Given the description of an element on the screen output the (x, y) to click on. 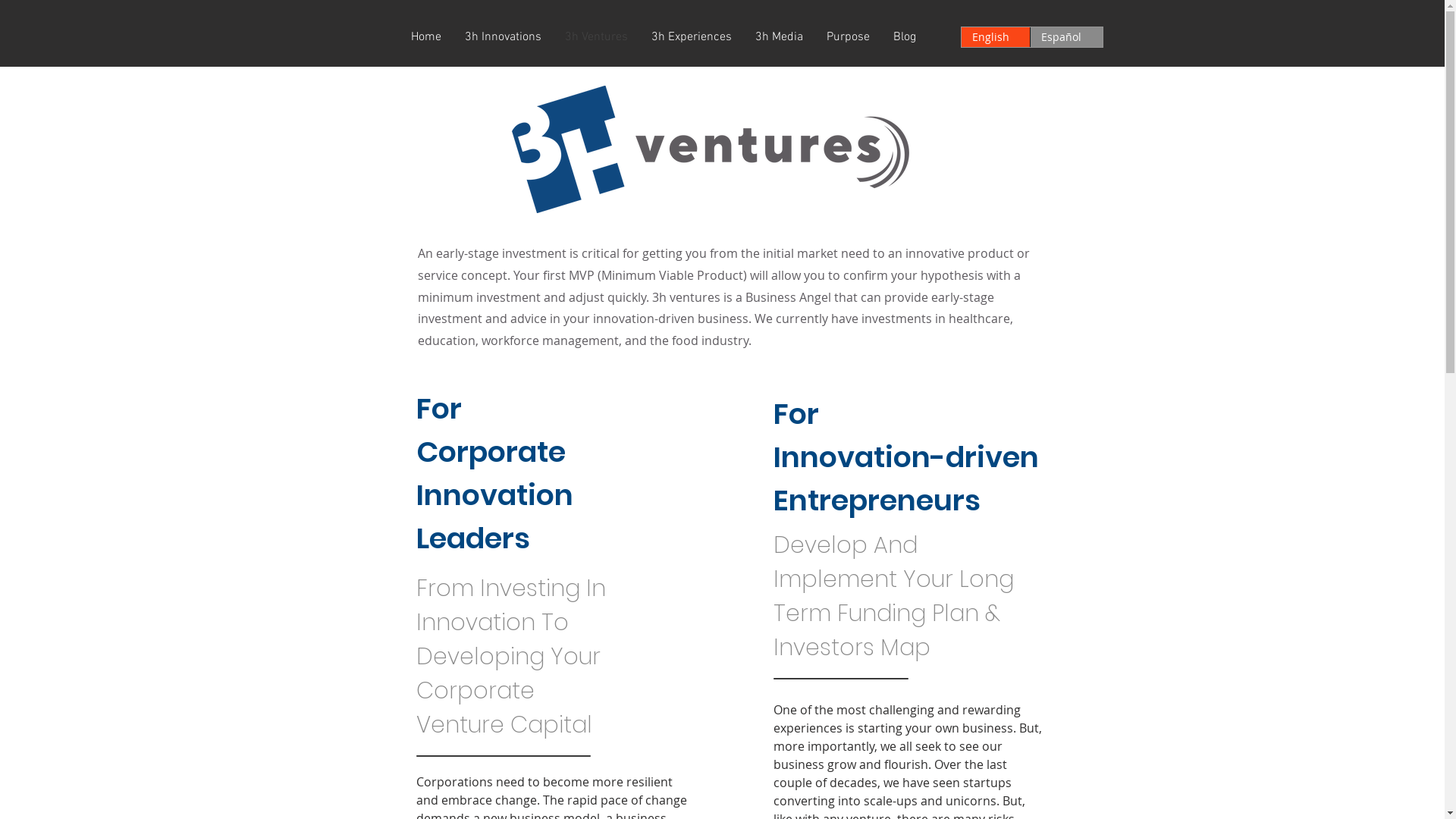
3h Media Element type: text (778, 37)
3h Experiences Element type: text (691, 37)
Purpose Element type: text (847, 37)
3h Innovations Element type: text (502, 37)
English Element type: text (995, 37)
Home Element type: text (424, 37)
3h Ventures Element type: text (596, 37)
Blog Element type: text (903, 37)
